Given the description of an element on the screen output the (x, y) to click on. 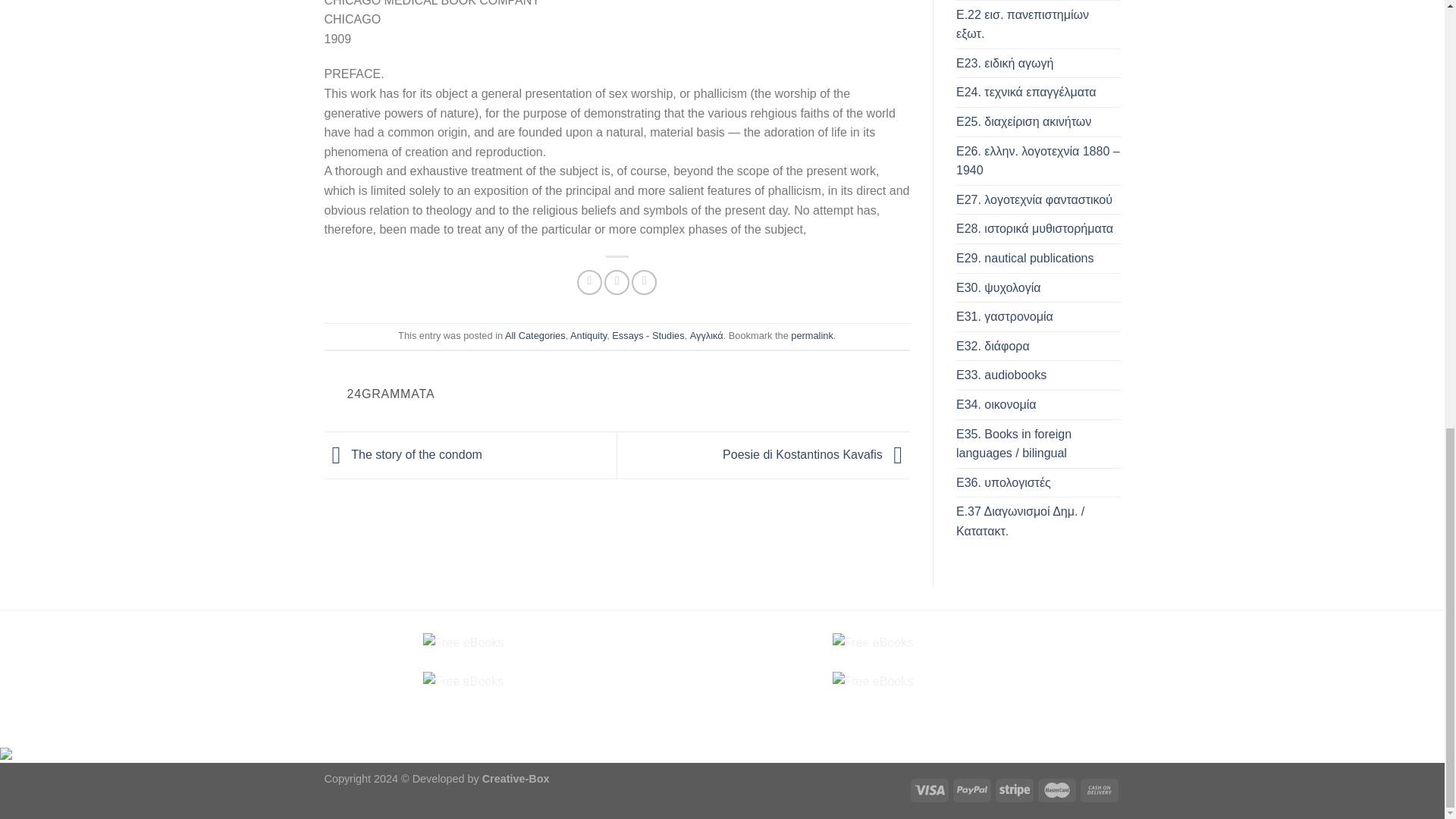
Share on Facebook (589, 282)
Share on Twitter (616, 282)
Email to a Friend (643, 282)
